Given the description of an element on the screen output the (x, y) to click on. 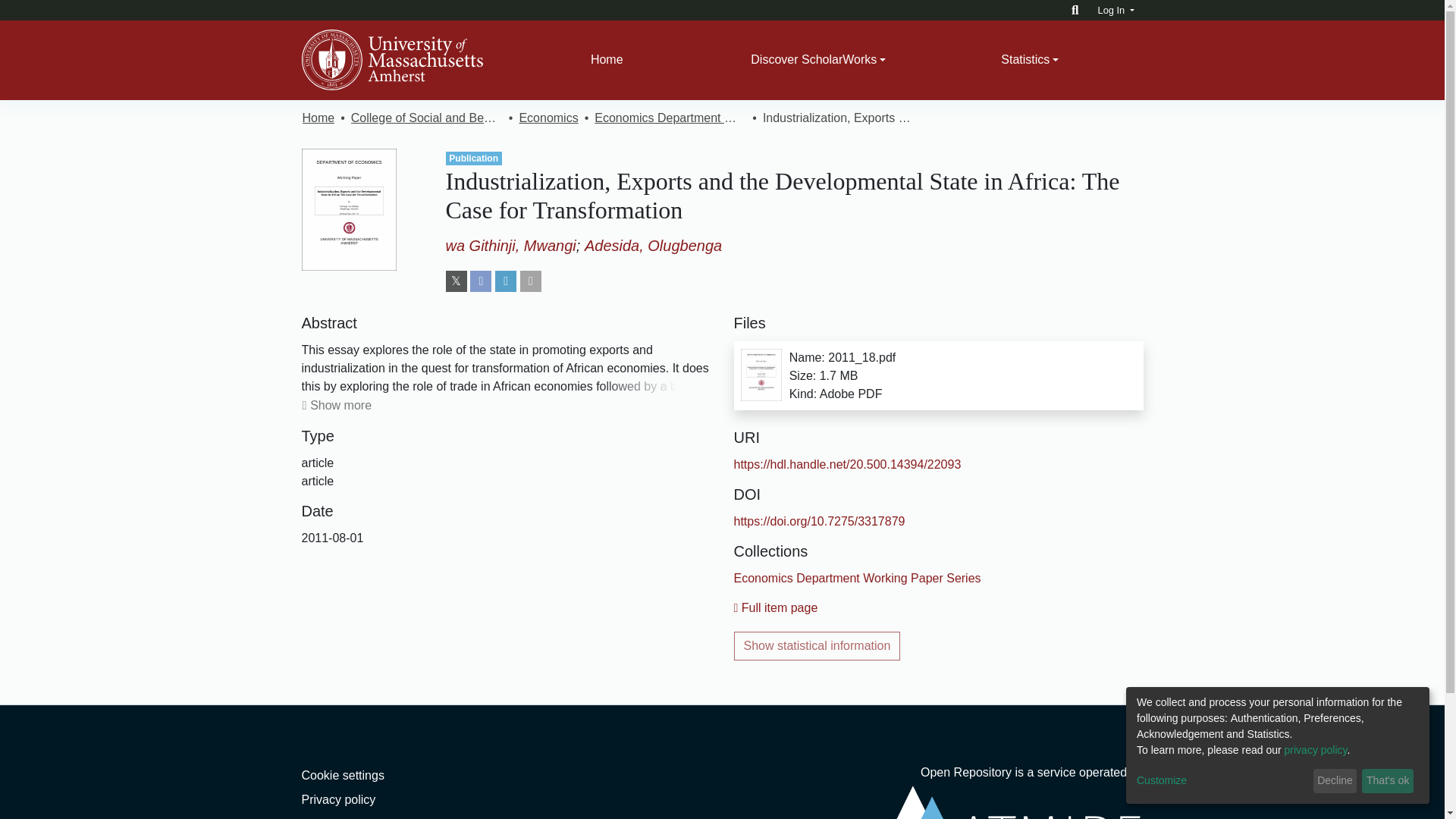
Discover ScholarWorks (818, 59)
Home (606, 59)
Home (606, 59)
Search (1075, 10)
Log In (1115, 9)
